Given the description of an element on the screen output the (x, y) to click on. 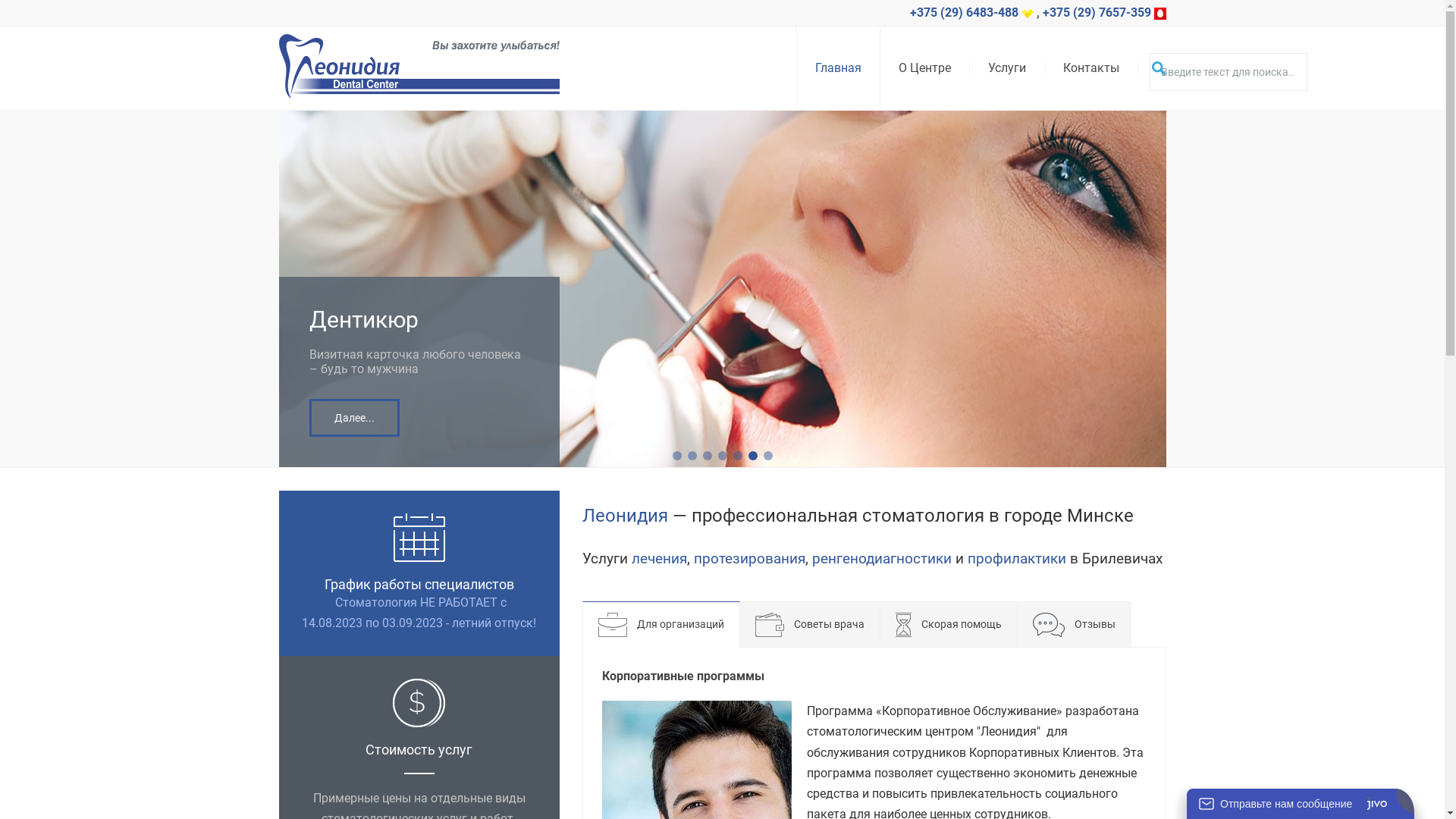
+375 (29) 7657-359  Element type: text (1103, 12)
+375 (29) 6483-488 Element type: text (971, 12)
